Given the description of an element on the screen output the (x, y) to click on. 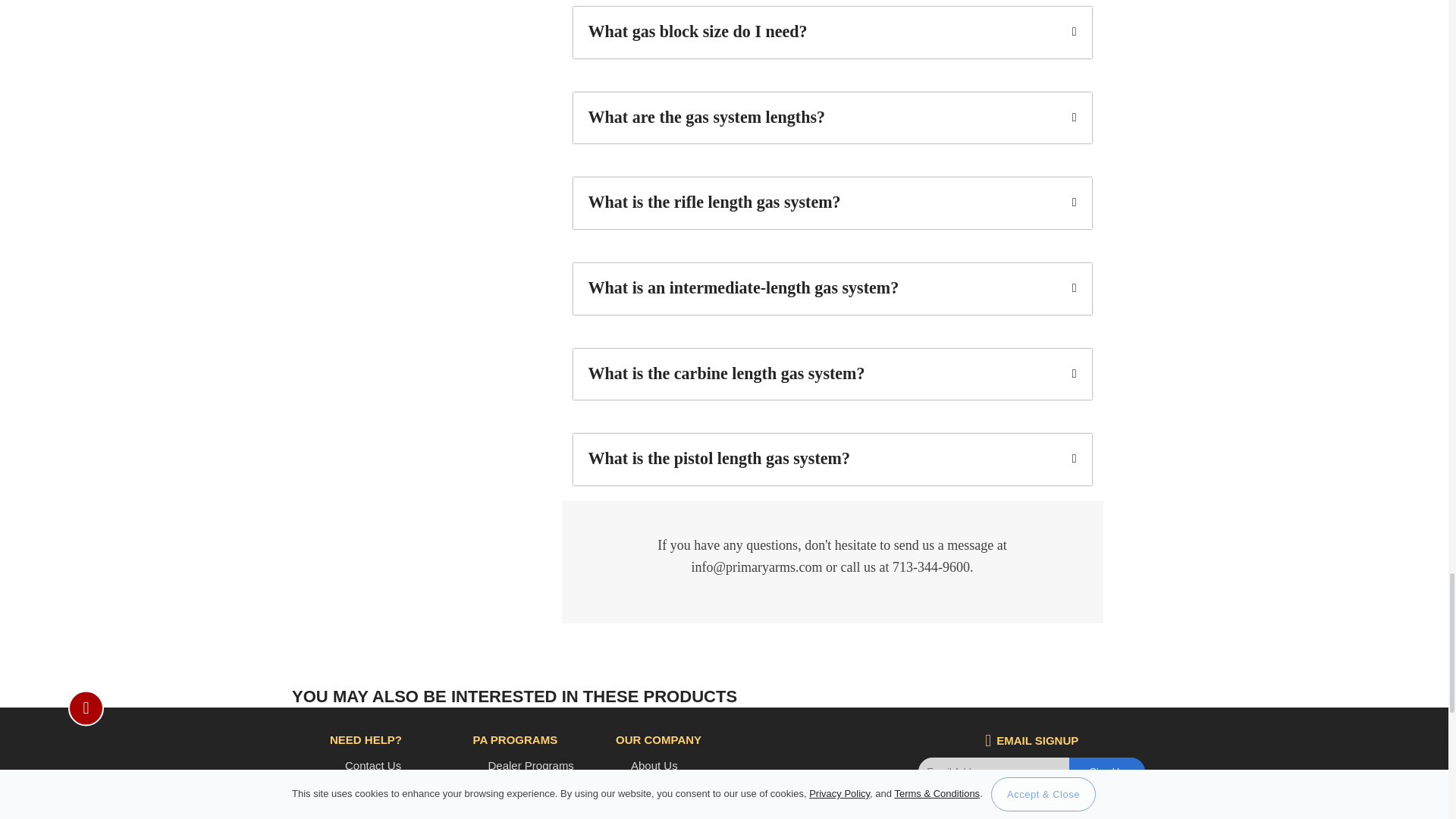
Sign Up (1106, 771)
